Given the description of an element on the screen output the (x, y) to click on. 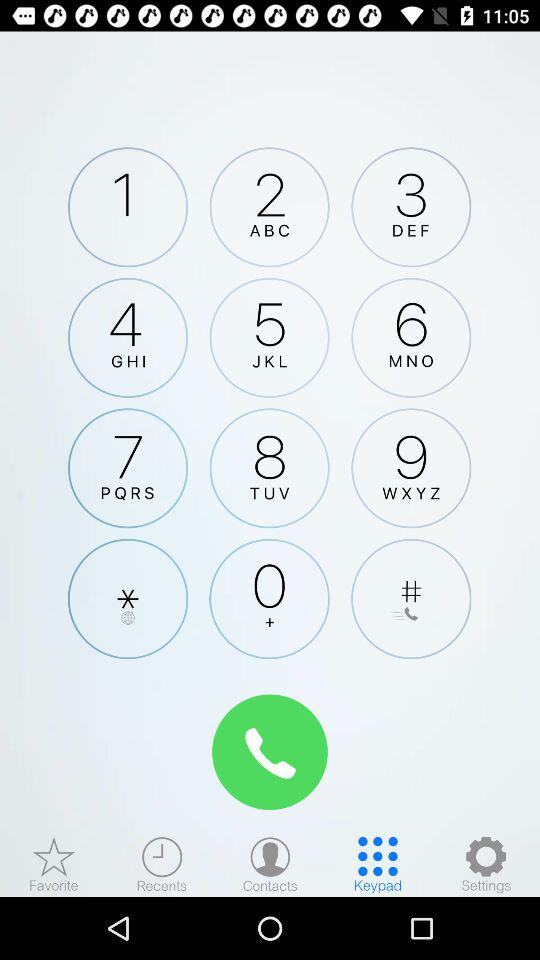
press 8 (269, 468)
